Given the description of an element on the screen output the (x, y) to click on. 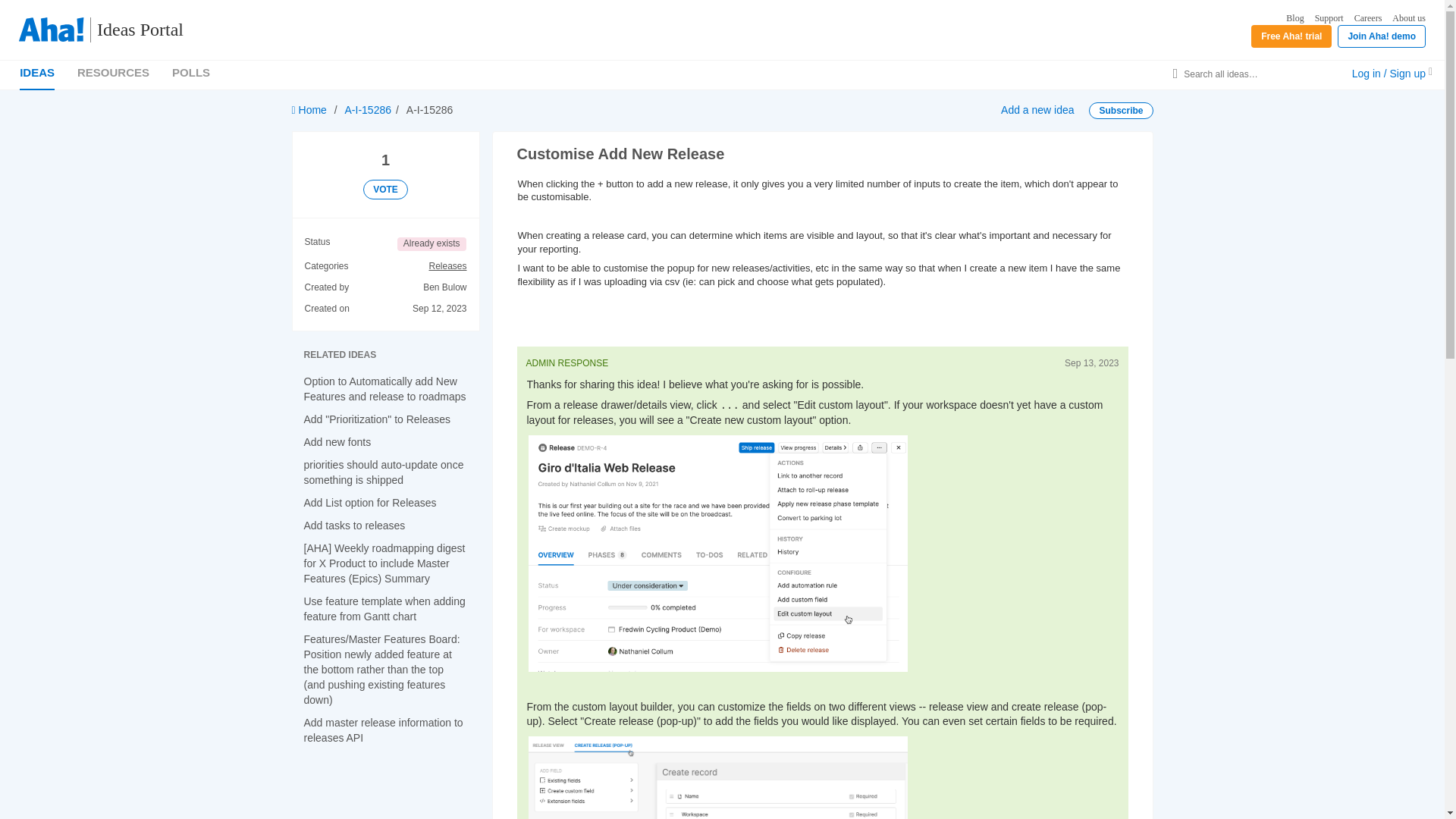
Add new fonts (336, 441)
Blog (1294, 18)
VOTE (385, 189)
Join Aha! demo (1381, 36)
Careers (1367, 18)
POLLS (190, 72)
priorities should auto-update once something is shipped (382, 472)
Add tasks to releases (353, 525)
Add a new idea (1037, 110)
Use feature template when adding feature from Gantt chart (383, 608)
